Given the description of an element on the screen output the (x, y) to click on. 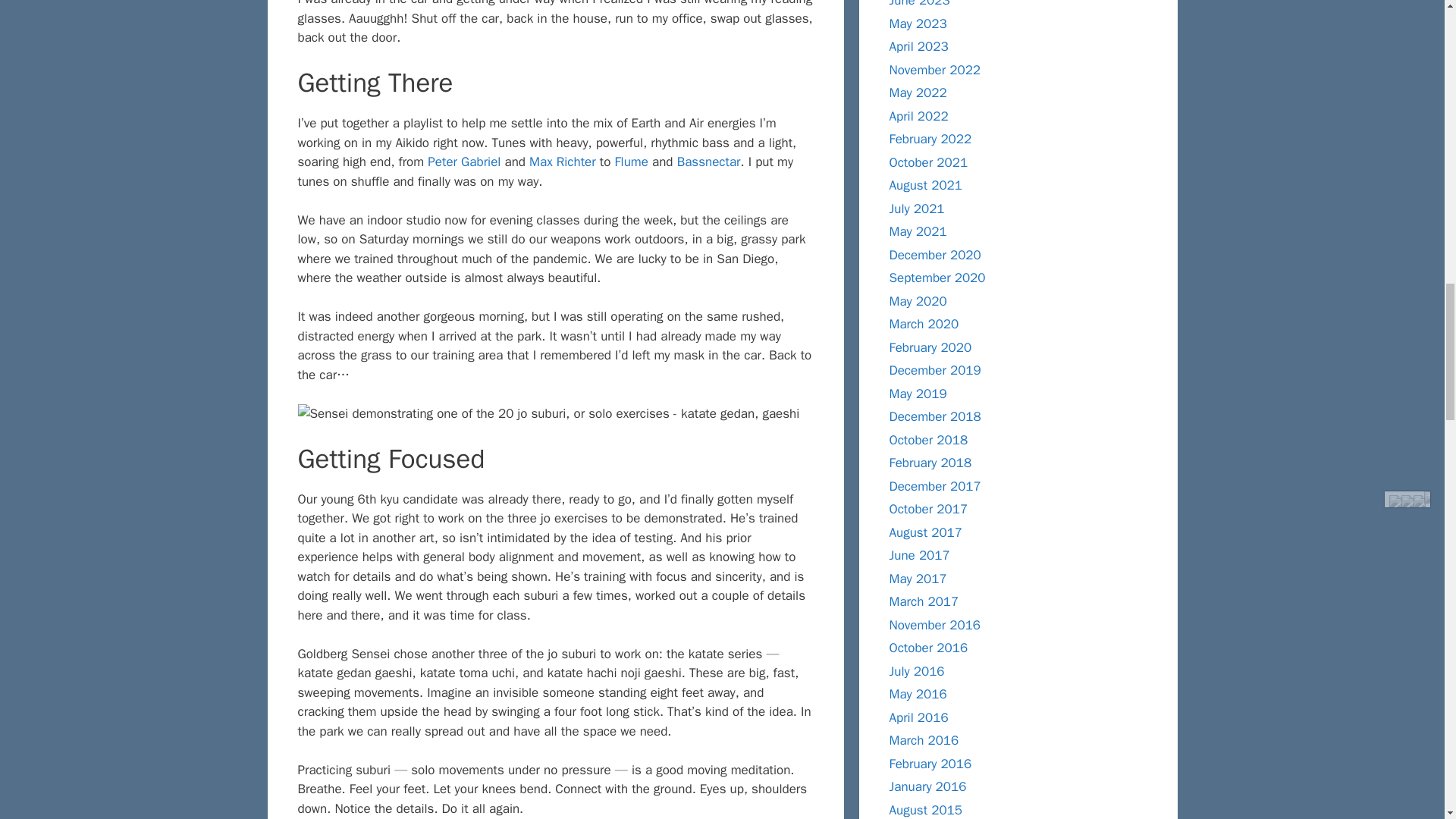
Flume (630, 161)
Bassnectar (709, 161)
Peter Gabriel (464, 161)
Max Richter (562, 161)
